Given the description of an element on the screen output the (x, y) to click on. 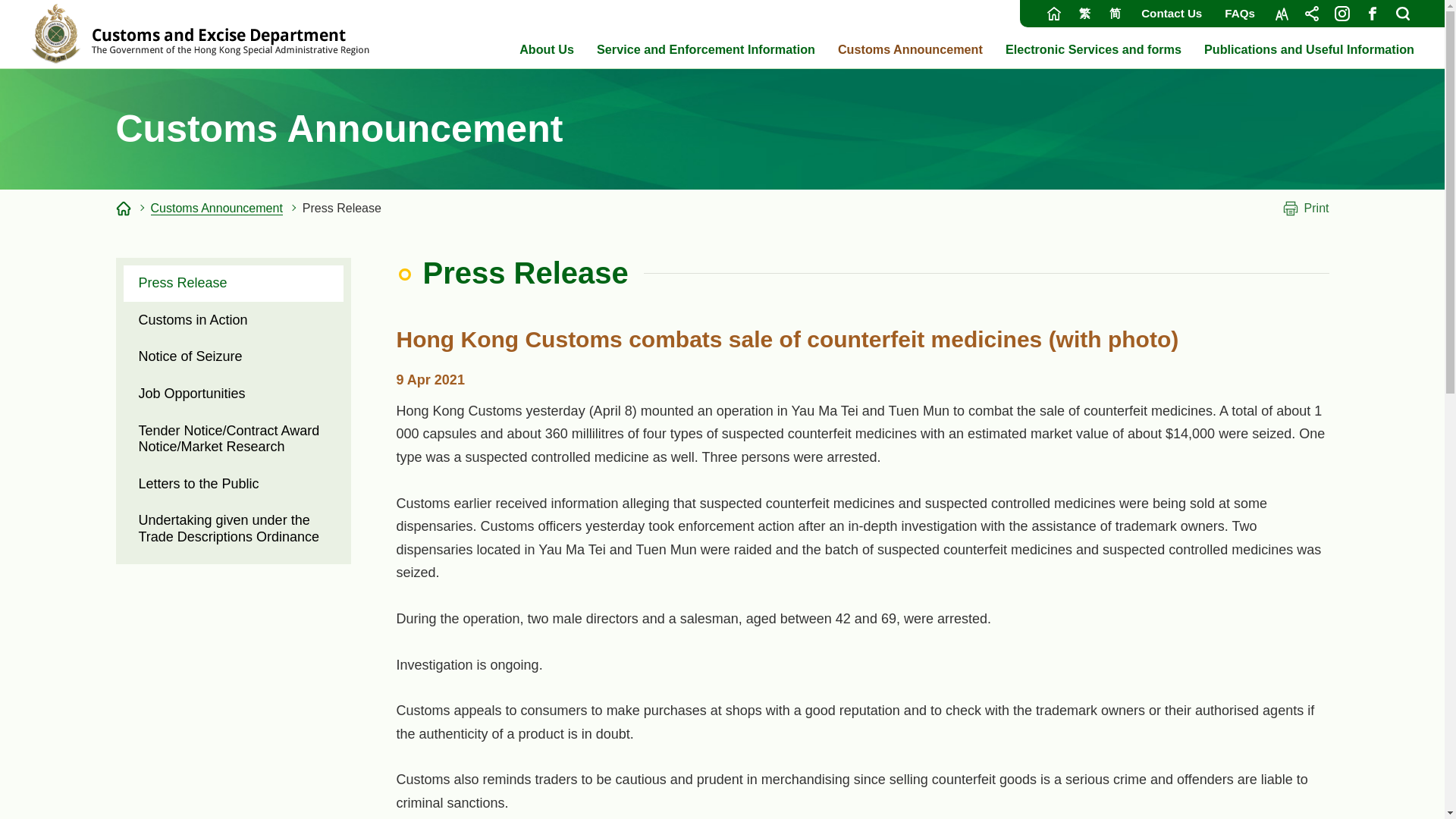
Font Size, This link will open in new window (1280, 13)
